Given the description of an element on the screen output the (x, y) to click on. 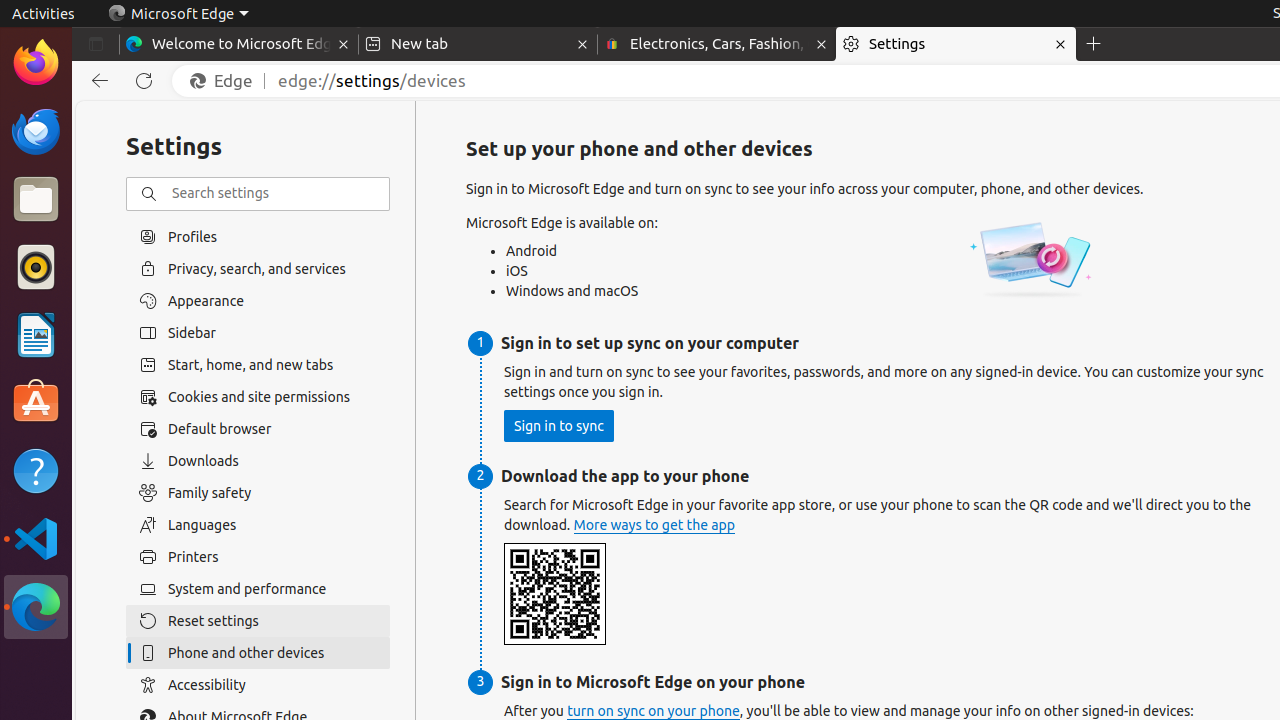
Windows and macOS Element type: list-item (577, 291)
Android Element type: list-item (577, 250)
Ubuntu Software Element type: push-button (36, 402)
Edge Element type: push-button (226, 81)
Thunderbird Mail Element type: push-button (36, 131)
